Given the description of an element on the screen output the (x, y) to click on. 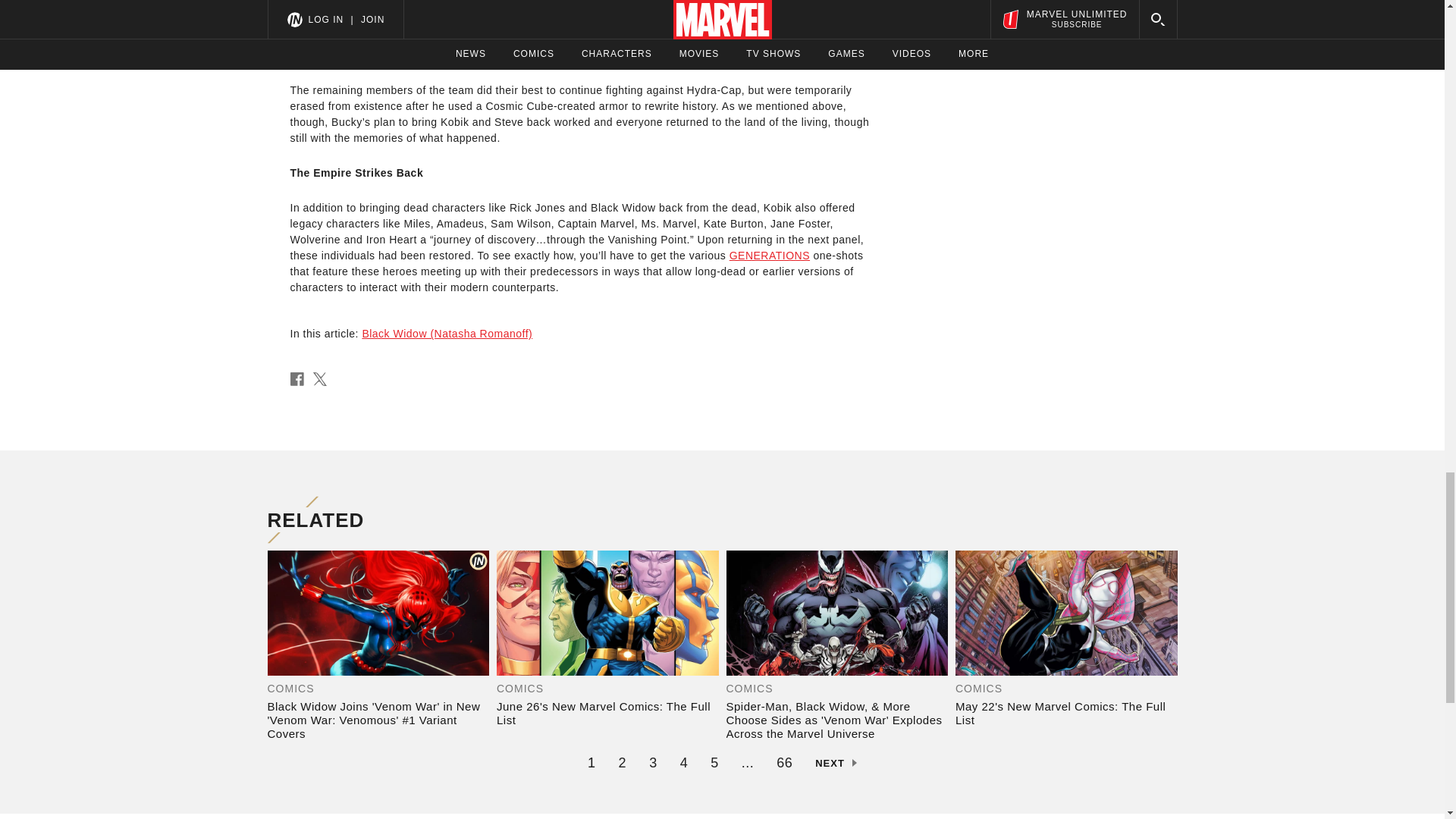
GENERATIONS (769, 255)
UPRISING (316, 23)
